Given the description of an element on the screen output the (x, y) to click on. 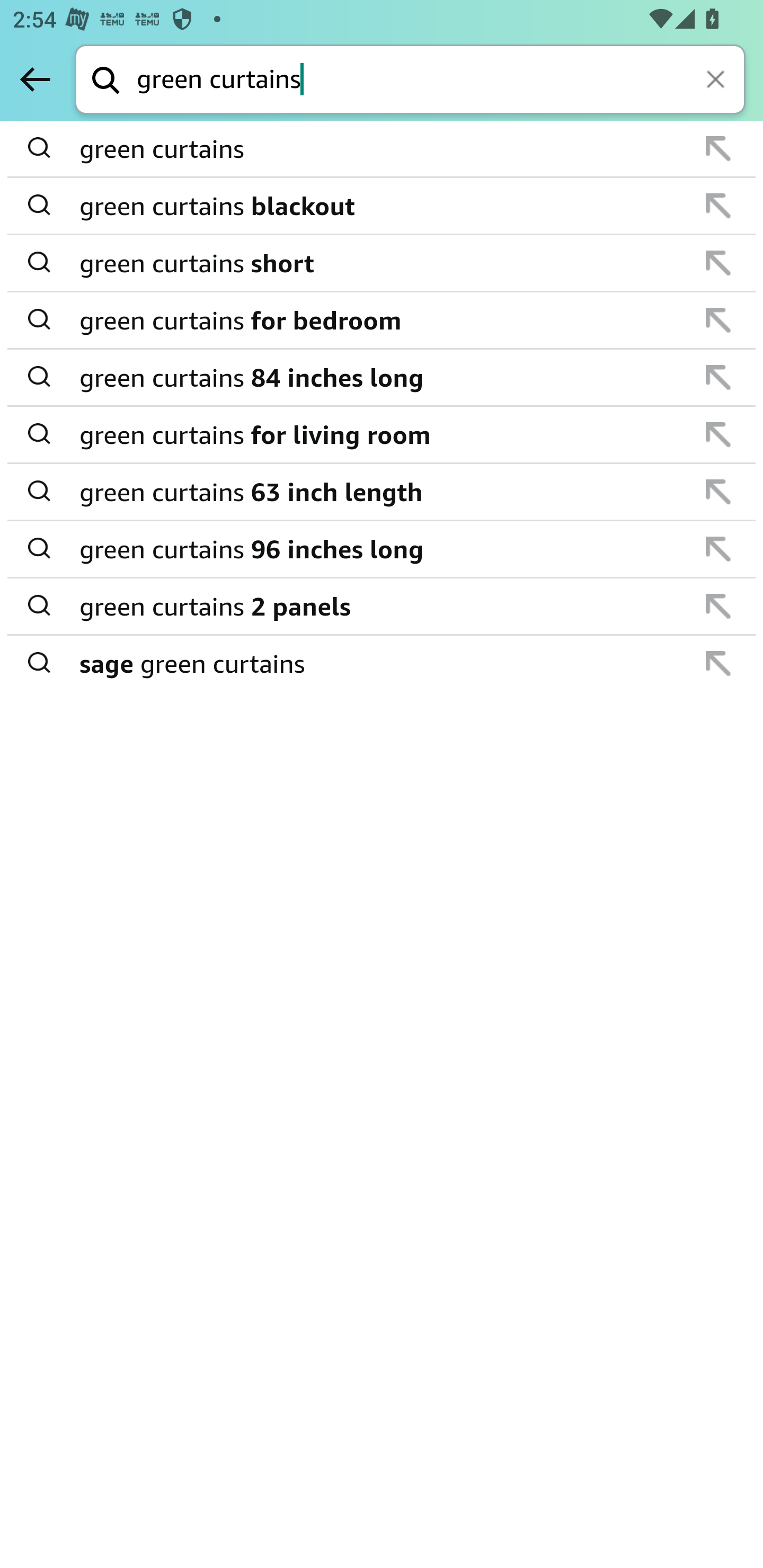
green curtains (440, 80)
Clear search keywords (717, 80)
Back (35, 78)
append suggestion green curtains (381, 149)
green curtains (382, 149)
append suggestion (718, 147)
green curtains blackout (382, 205)
append suggestion green curtains blackout (381, 206)
append suggestion (718, 205)
green curtains short (382, 262)
append suggestion green curtains short (381, 263)
append suggestion (718, 262)
green curtains for bedroom (382, 319)
append suggestion green curtains for bedroom (381, 320)
append suggestion (718, 319)
green curtains 84 inches long (382, 377)
append suggestion green curtains 84 inches long (381, 377)
append suggestion (718, 376)
green curtains for living room (382, 434)
append suggestion green curtains for living room (381, 435)
append suggestion (718, 434)
green curtains 63 inch length (382, 491)
append suggestion green curtains 63 inch length (381, 492)
append suggestion (718, 491)
green curtains 96 inches long (382, 548)
append suggestion green curtains 96 inches long (381, 549)
append suggestion (718, 548)
green curtains 2 panels (382, 606)
append suggestion green curtains 2 panels (381, 606)
append suggestion (718, 605)
sage green curtains (382, 662)
append suggestion sage green curtains (381, 663)
append suggestion (718, 663)
